Given the description of an element on the screen output the (x, y) to click on. 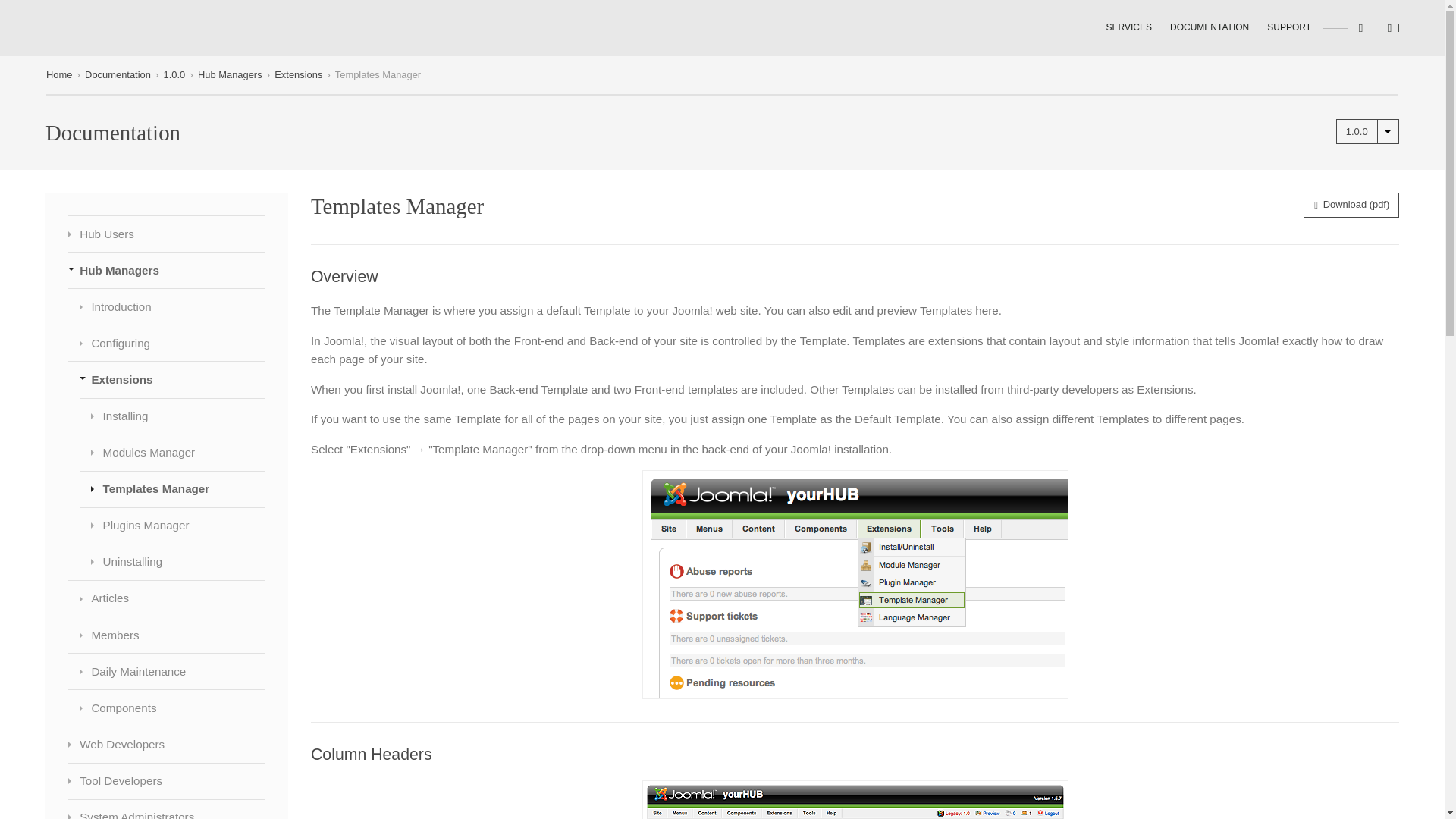
SUPPORT (1280, 27)
DOCUMENTATION (1200, 27)
Hub Managers (230, 74)
Extensions (298, 74)
Hub Users (166, 233)
1.0.0 (1356, 131)
Documentation (117, 74)
HUBzero Help (92, 26)
Home (58, 74)
SERVICES (1119, 27)
